Given the description of an element on the screen output the (x, y) to click on. 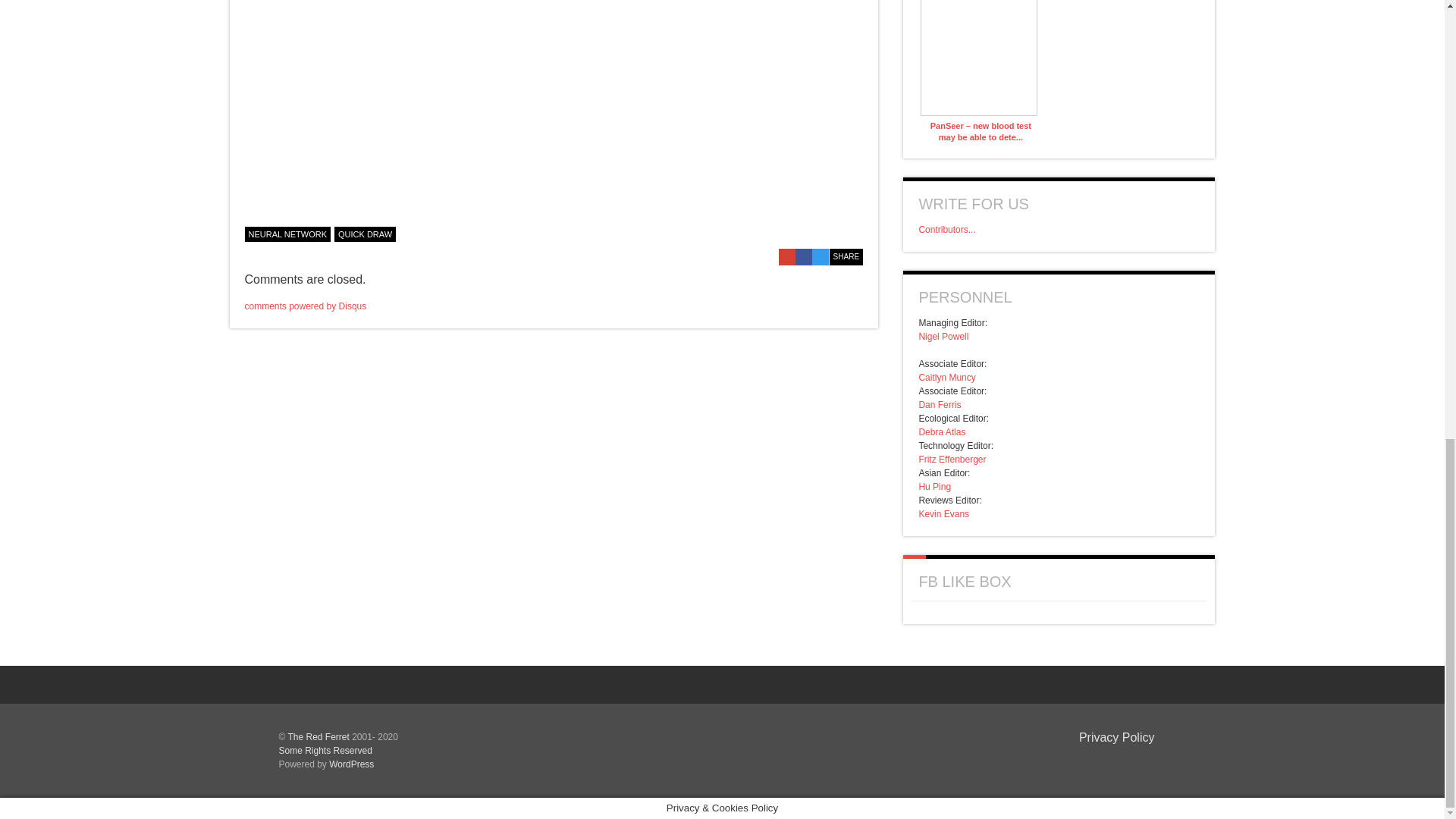
QUICK DRAW (365, 233)
comments powered by Disqus (305, 306)
Hu Ping (934, 486)
SHARE (846, 256)
Nigel Powell (943, 336)
NEURAL NETWORK (287, 233)
Fritz Effenberger (951, 459)
Kevin Evans (943, 513)
Built by Bairwell (1130, 761)
I like this article (855, 231)
Contributors... (946, 229)
Caitlyn Muncy (946, 377)
Dan Ferris (939, 404)
Debra Atlas (941, 431)
